Given the description of an element on the screen output the (x, y) to click on. 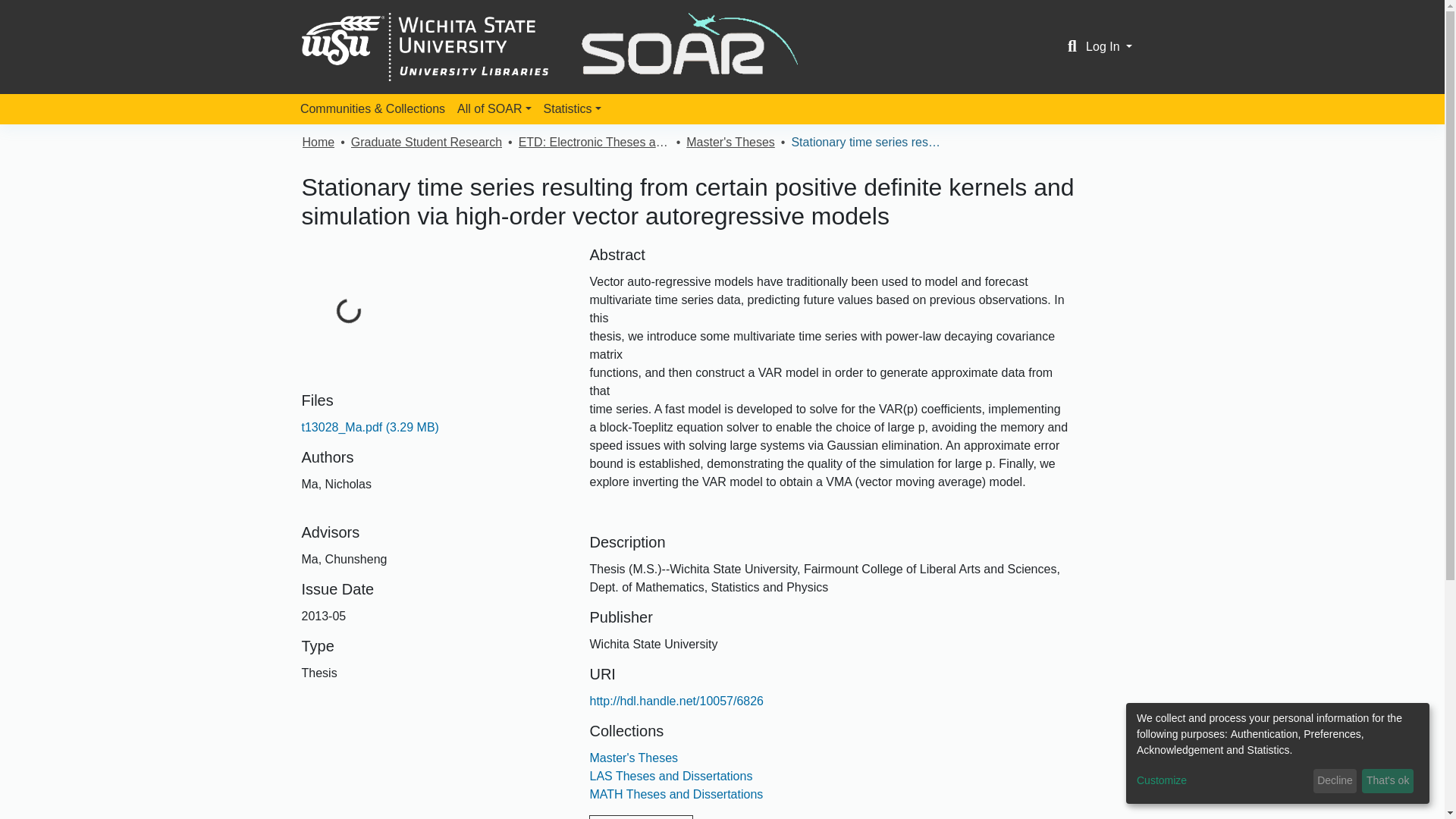
Statistics (572, 109)
MATH Theses and Dissertations (675, 793)
Master's Theses (633, 757)
ETD: Electronic Theses and Dissertations (593, 142)
Search (1072, 46)
All of SOAR (494, 109)
Full item page (641, 816)
Customize (1222, 780)
Log In (1108, 46)
Graduate Student Research (426, 142)
LAS Theses and Dissertations (670, 775)
Home (317, 142)
That's ok (1387, 781)
Decline (1334, 781)
Master's Theses (729, 142)
